Given the description of an element on the screen output the (x, y) to click on. 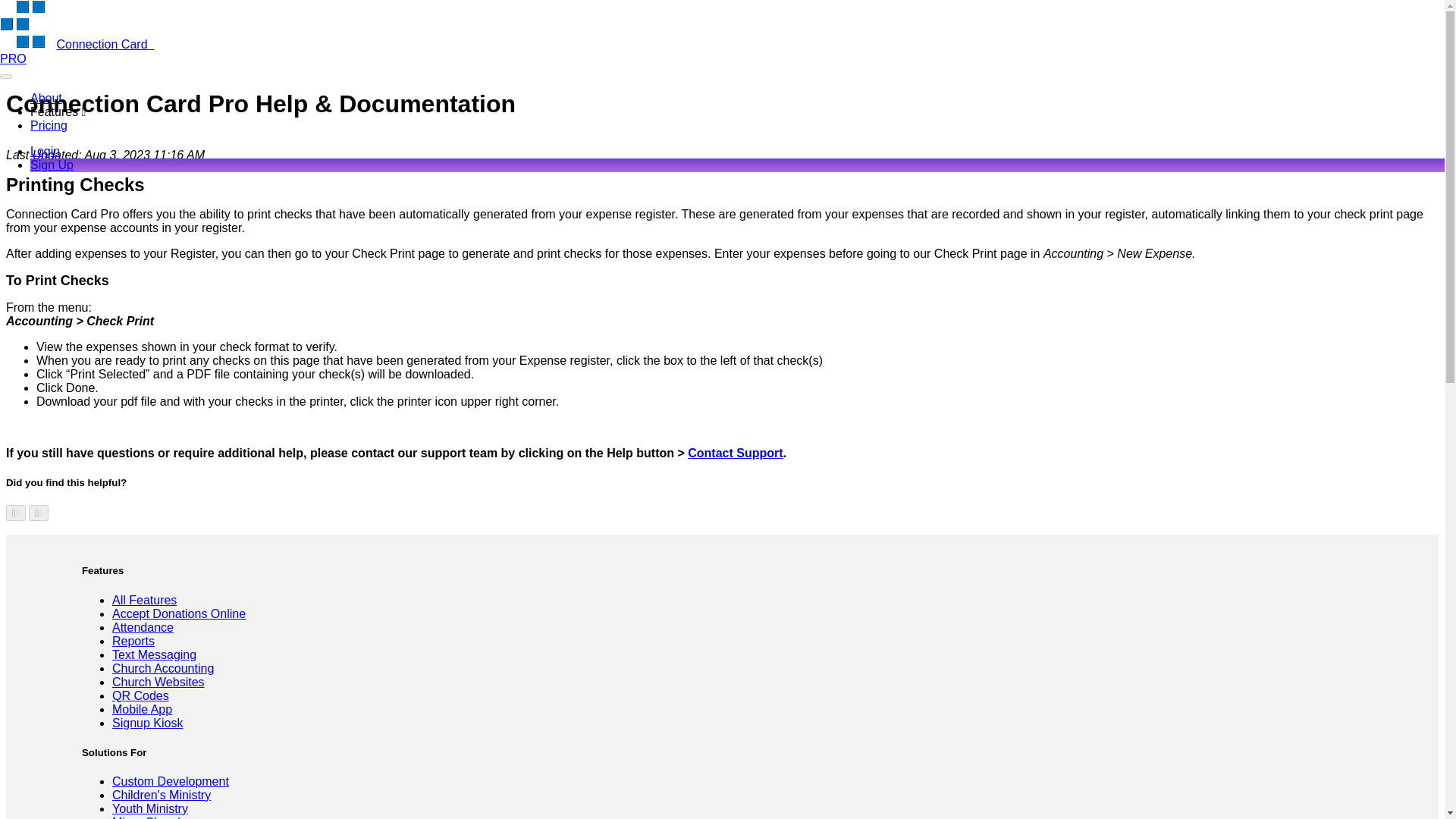
Contact Support (735, 452)
Accept Donations Online (179, 613)
Mobile App (141, 708)
Text Messaging (154, 654)
Micro Churches (154, 817)
Attendance (142, 626)
Signup Kiosk (147, 722)
Pricing (48, 124)
Login (44, 151)
Church Accounting (163, 667)
Reports (133, 640)
Youth Ministry (149, 808)
All Features (144, 599)
About (46, 97)
Custom Development (170, 780)
